Given the description of an element on the screen output the (x, y) to click on. 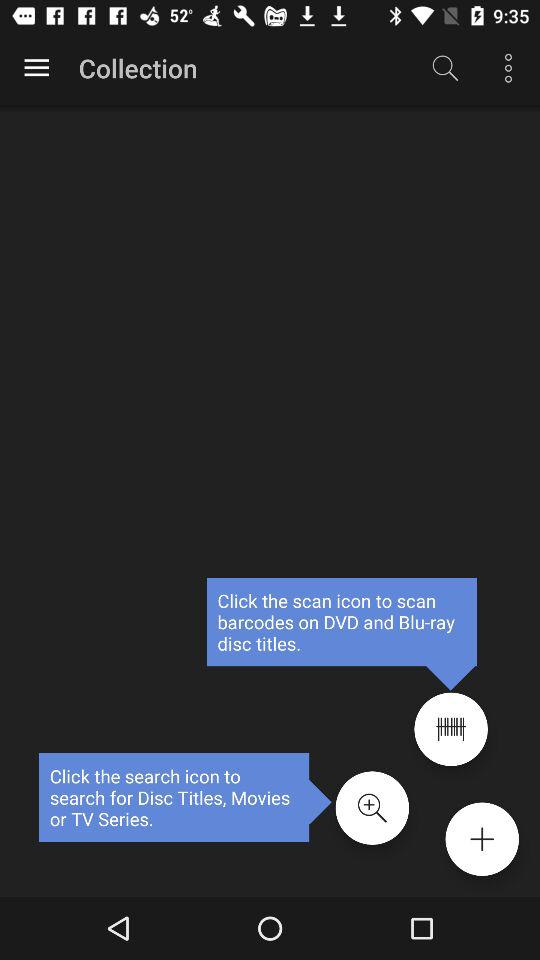
adds a collection (482, 839)
